Given the description of an element on the screen output the (x, y) to click on. 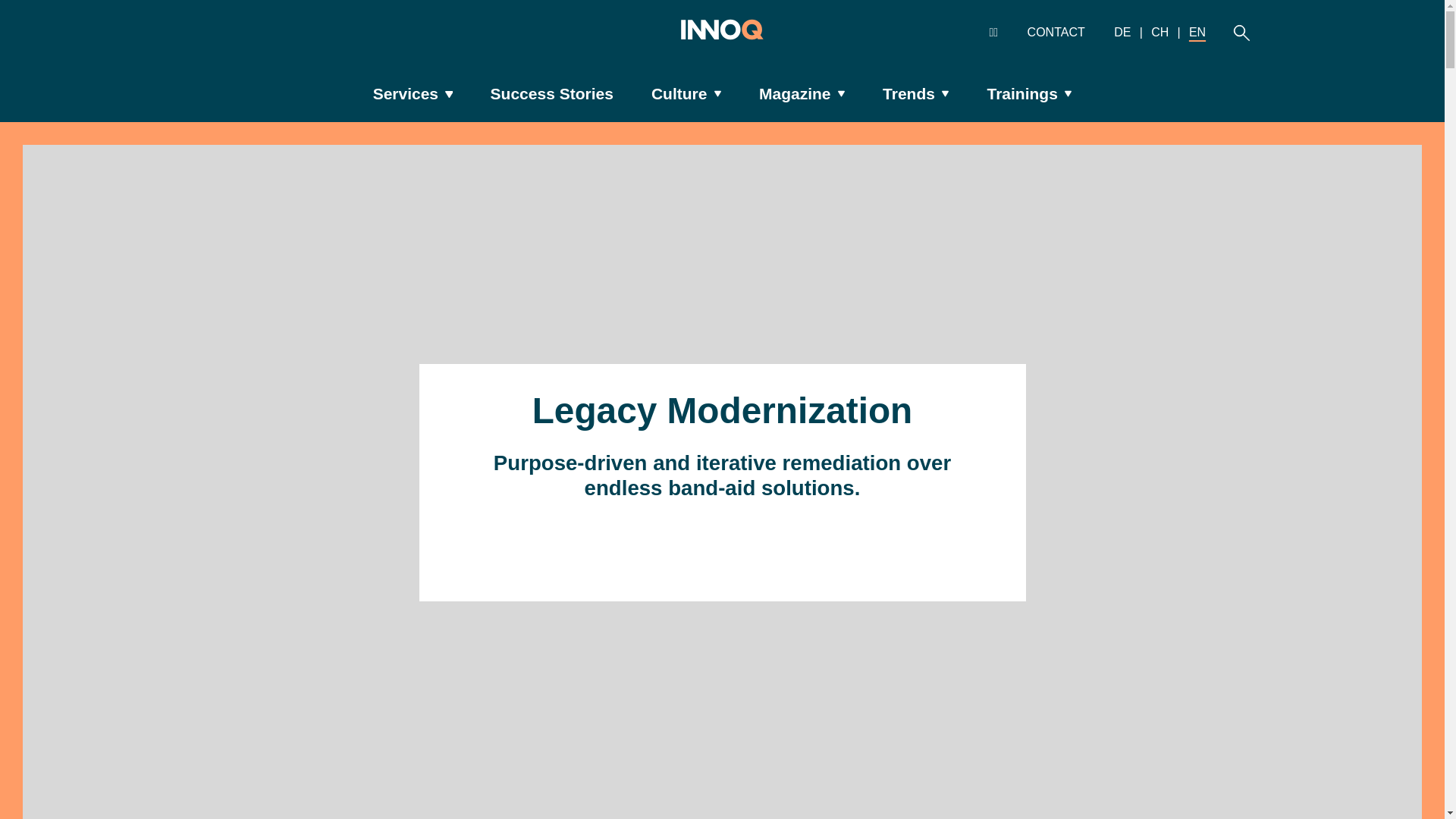
Switch to English (1197, 32)
Switch to German (1122, 32)
Culture (685, 94)
Trainings (1028, 94)
INNOQ Homepage (722, 33)
Switch to Swiss German (1159, 32)
Trends (915, 94)
Magazine (801, 94)
Success Stories (551, 94)
Services (412, 94)
